Given the description of an element on the screen output the (x, y) to click on. 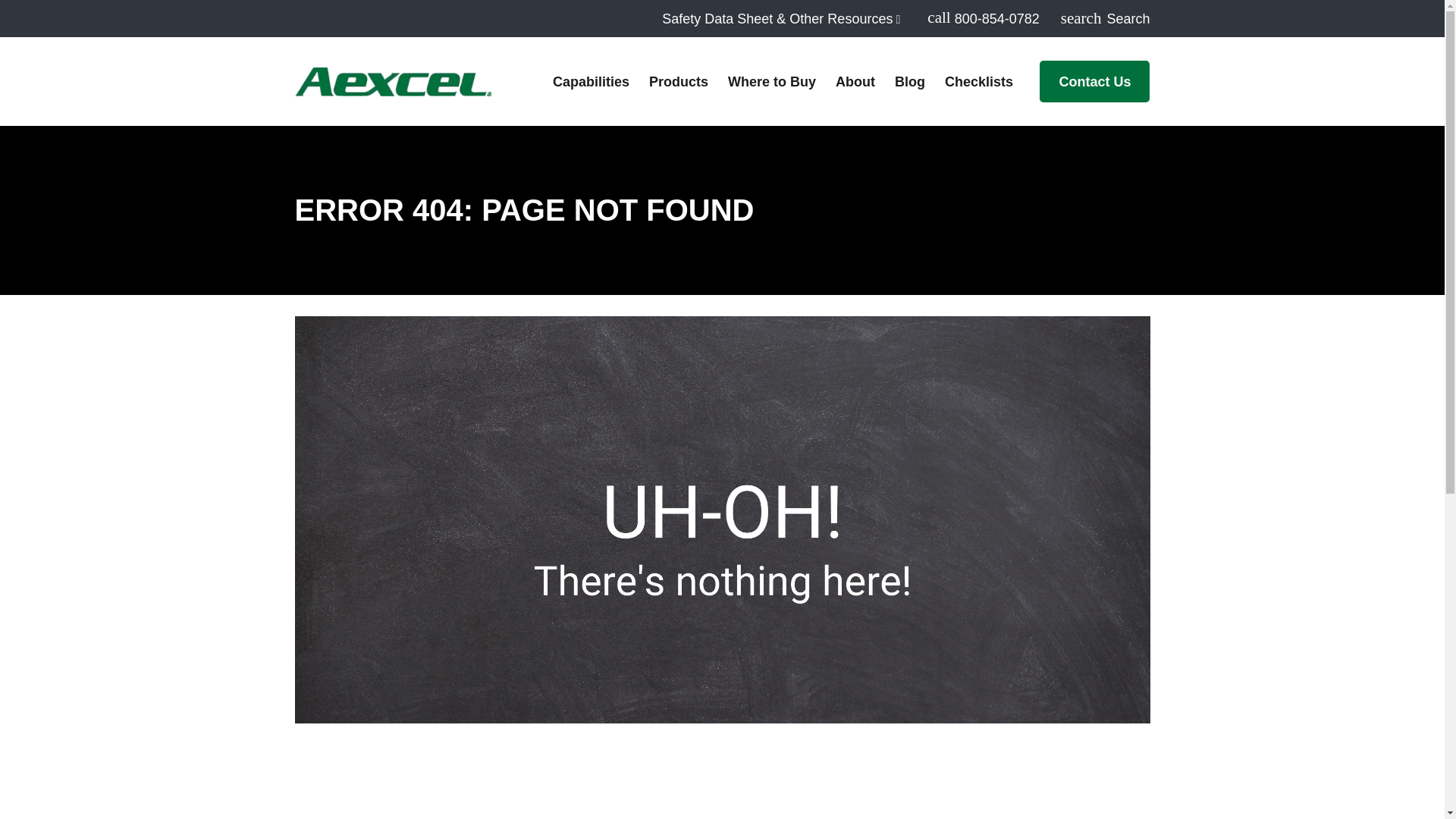
Contact Us (1094, 81)
search Search (1105, 17)
8008540782 (983, 17)
call 800-854-0782 (983, 17)
Capabilities (590, 81)
Aexcel corp (392, 81)
